Given the description of an element on the screen output the (x, y) to click on. 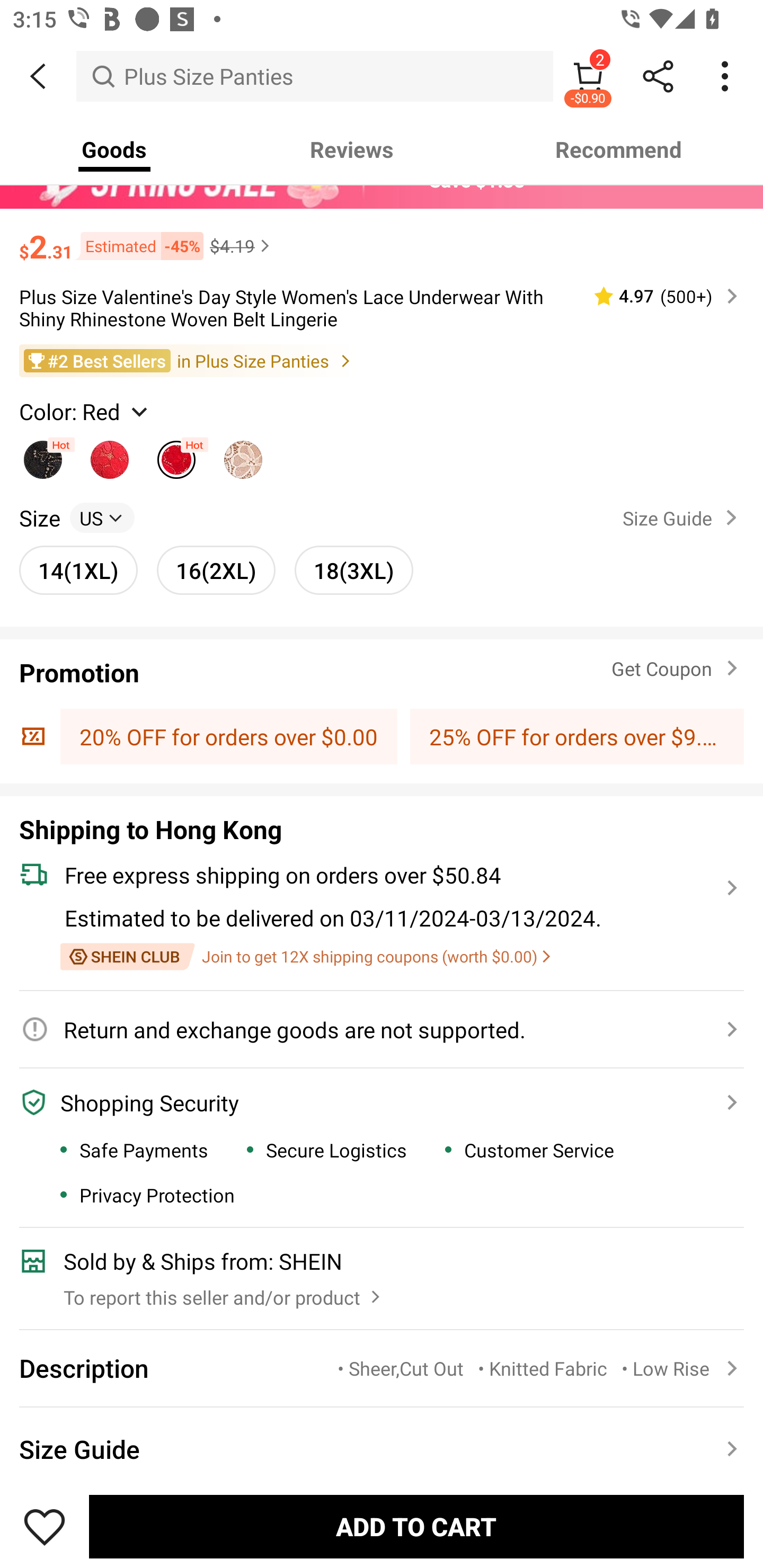
BACK (38, 75)
2 -$0.90 (588, 75)
Plus Size Panties (314, 75)
Goods (114, 149)
Reviews (351, 149)
Recommend (618, 149)
$2.31 Estimated -45% $4.19 (381, 238)
Estimated -45% (137, 246)
$4.19 (241, 245)
4.97 (500‎+) (658, 295)
#2 Best Sellers in Plus Size Panties (381, 360)
Color: Red (85, 411)
Black (42, 454)
Burgundy (109, 454)
Red (176, 454)
White (242, 454)
Size (39, 518)
US (102, 518)
Size Guide (682, 517)
14(1XL) 14(1XL)unselected option (78, 569)
16(2XL) 16(2XL)unselected option (216, 569)
18(3XL) 18(3XL)unselected option (353, 569)
Join to get 12X shipping coupons (worth $0.00) (305, 956)
Return and exchange goods are not supported. (370, 1029)
To report this seller and/or product   (224, 1292)
Size Guide (381, 1446)
ADD TO CART (416, 1526)
Save (44, 1526)
